Given the description of an element on the screen output the (x, y) to click on. 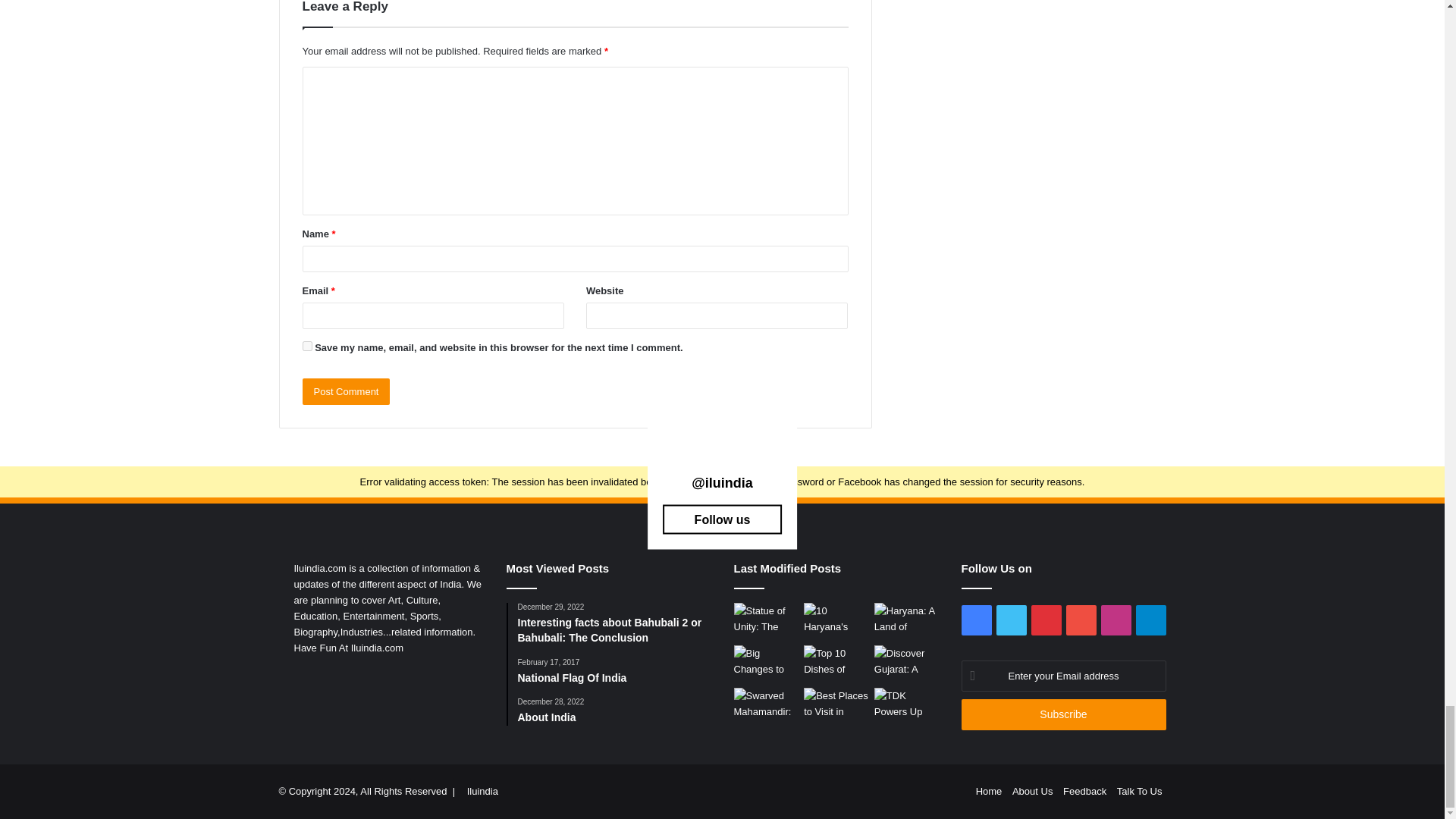
yes (306, 346)
Post Comment (345, 391)
Subscribe (1063, 714)
